Given the description of an element on the screen output the (x, y) to click on. 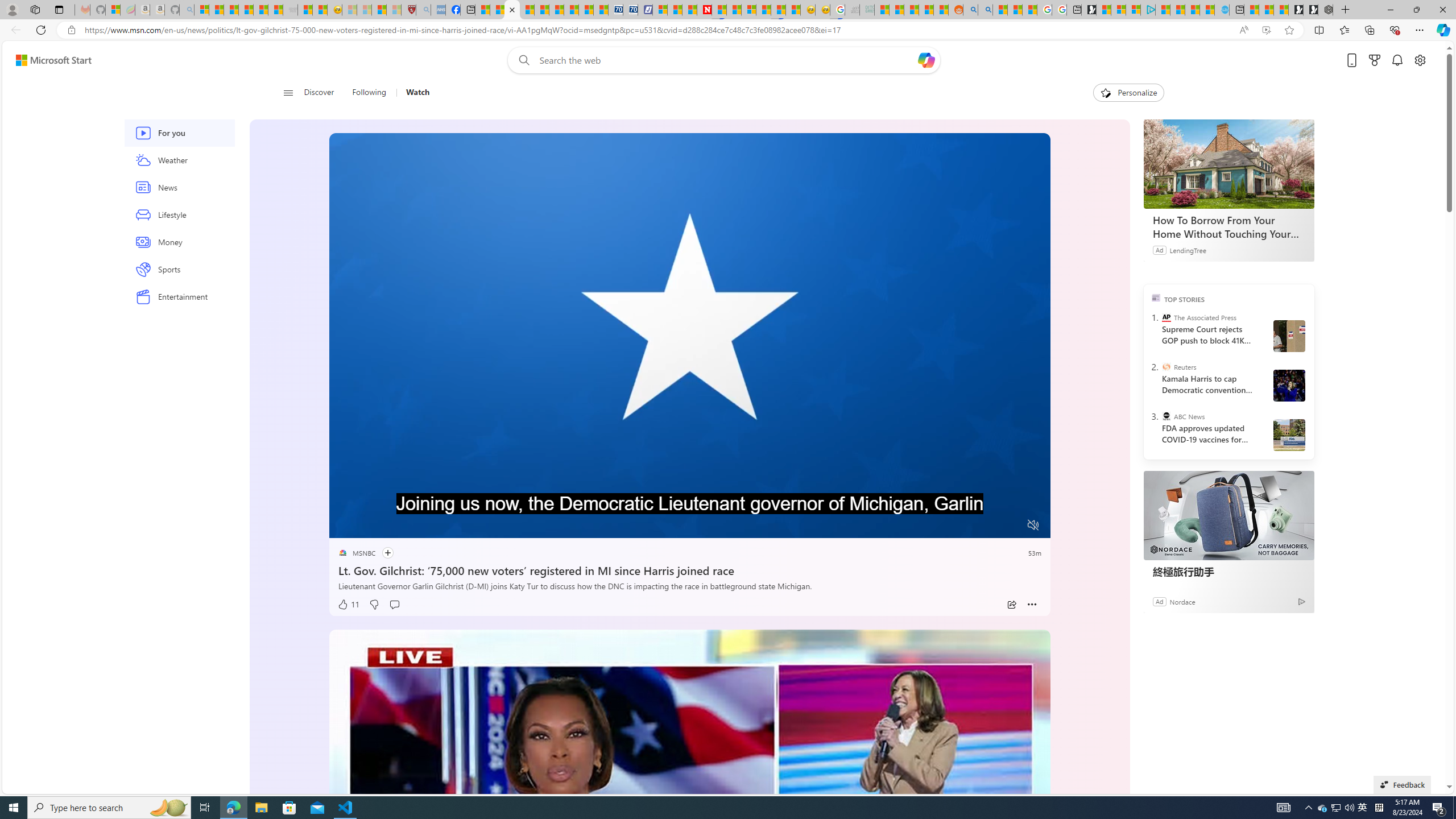
The Associated Press (1165, 316)
Cheap Hotels - Save70.com (630, 9)
Class: at-item inline-watch (1031, 604)
Newsweek - News, Analysis, Politics, Business, Technology (703, 9)
Utah sues federal government - Search (984, 9)
Combat Siege - Sleeping (290, 9)
